Given the description of an element on the screen output the (x, y) to click on. 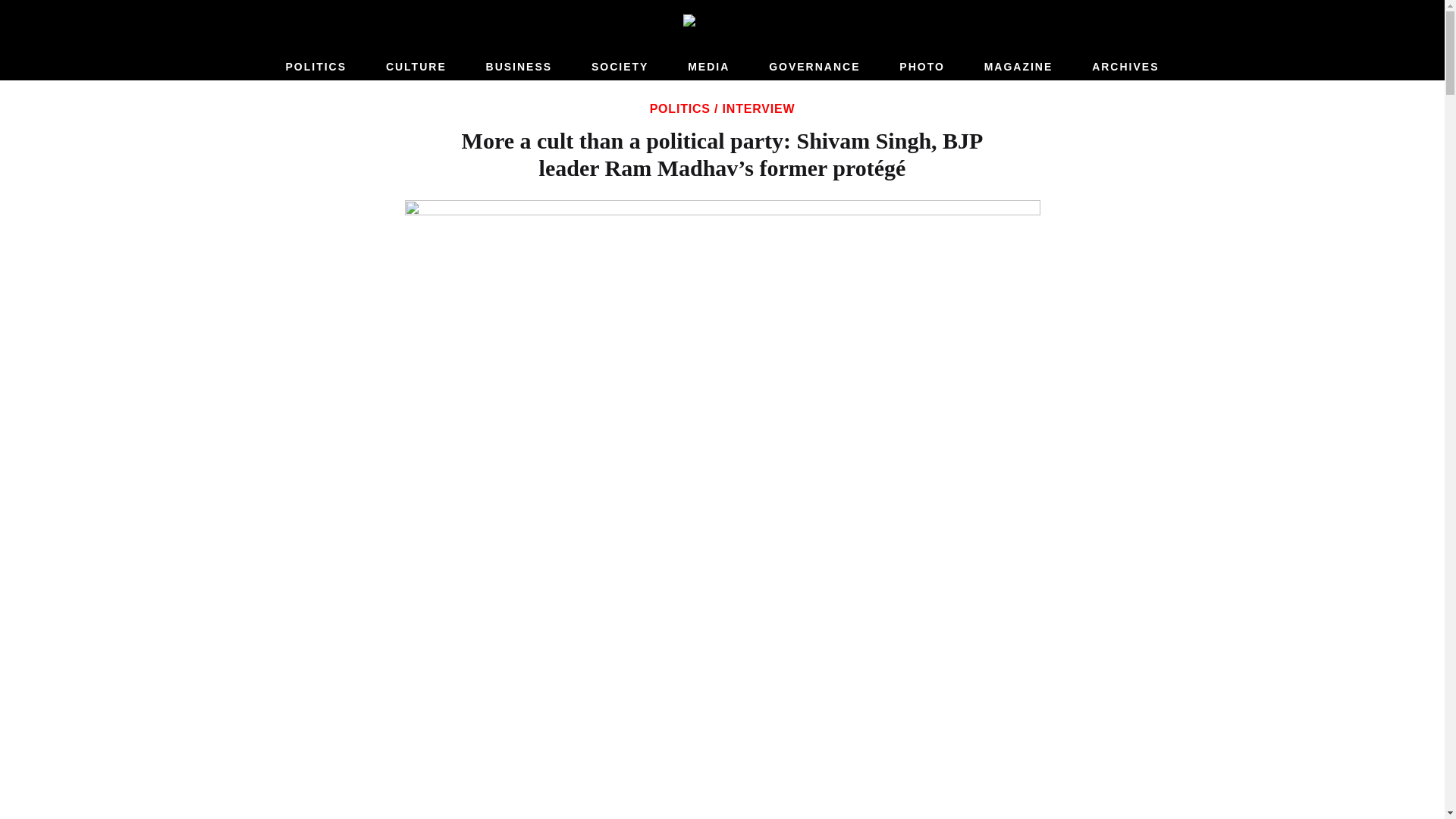
BUSINESS (519, 66)
GOVERNANCE (814, 66)
MEDIA (708, 66)
PHOTO (921, 66)
CULTURE (416, 66)
POLITICS (315, 66)
MAGAZINE (1018, 66)
POLITICS (679, 108)
ARCHIVES (1125, 66)
SOCIETY (619, 66)
